Given the description of an element on the screen output the (x, y) to click on. 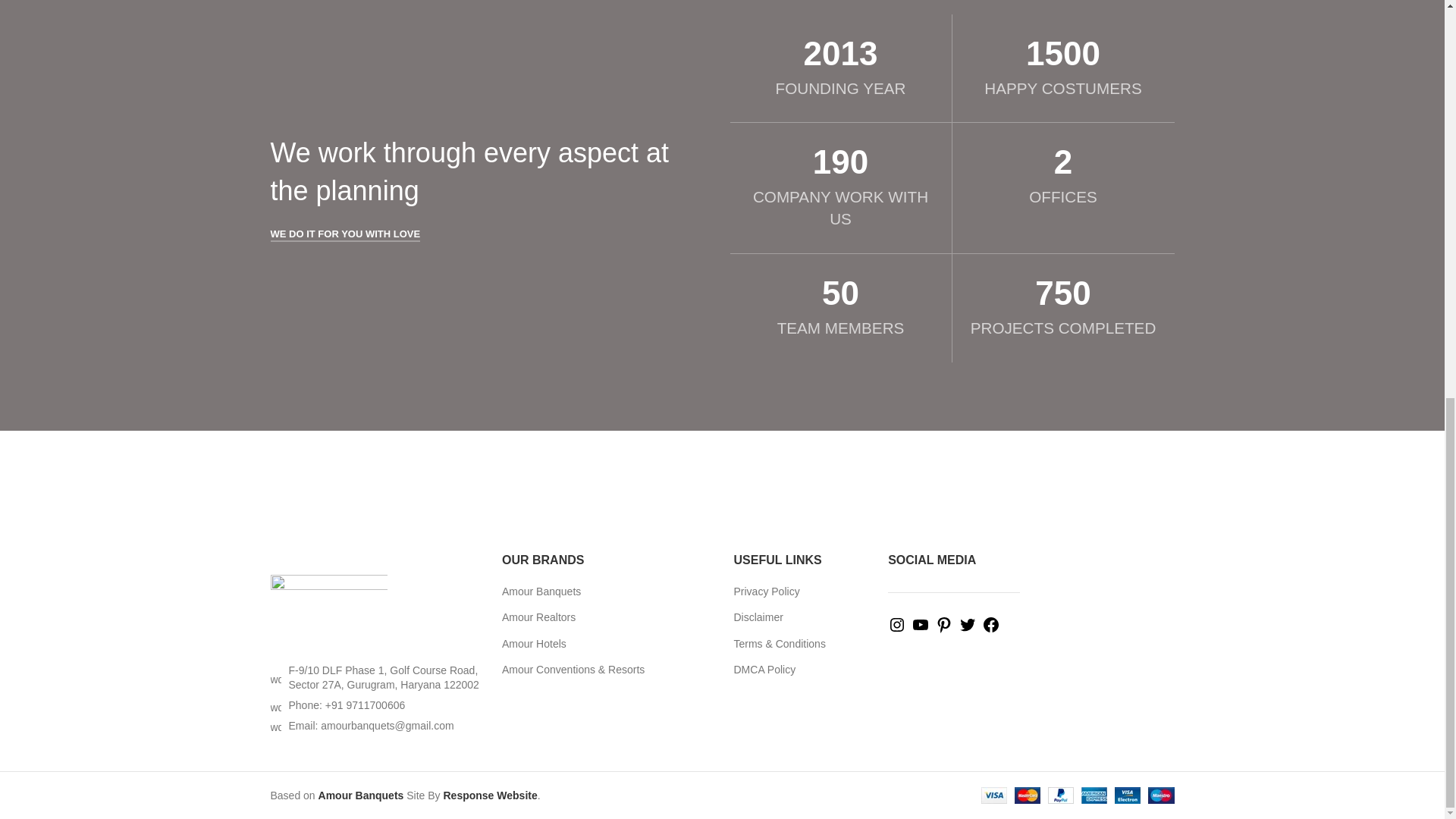
Amour Realtors (539, 617)
Amour Hotels (534, 644)
WE DO IT FOR YOU WITH LOVE (344, 234)
wd-phone-dark (275, 706)
wd-cursor-dark (275, 677)
Amour Banquets (542, 591)
wd-envelope-dark (275, 725)
